Given the description of an element on the screen output the (x, y) to click on. 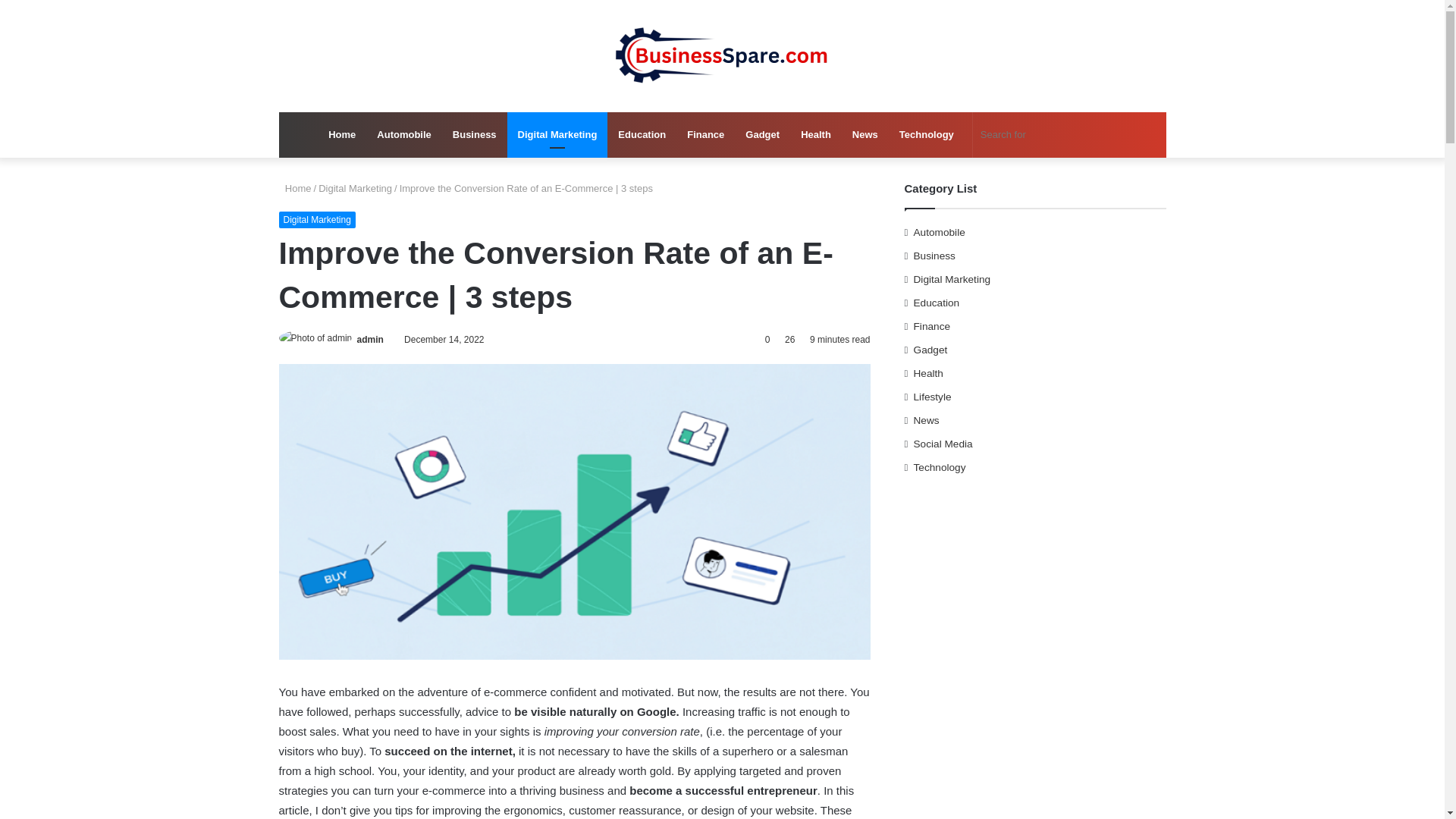
Home (295, 188)
Search for (1049, 135)
Finance (706, 135)
Home (341, 135)
Technology (925, 135)
Business (474, 135)
admin (370, 339)
News (864, 135)
Education (642, 135)
Gadget (762, 135)
Automobile (404, 135)
Health (815, 135)
Digital Marketing (317, 219)
Digital Marketing (354, 188)
Businessspare.com (721, 56)
